Given the description of an element on the screen output the (x, y) to click on. 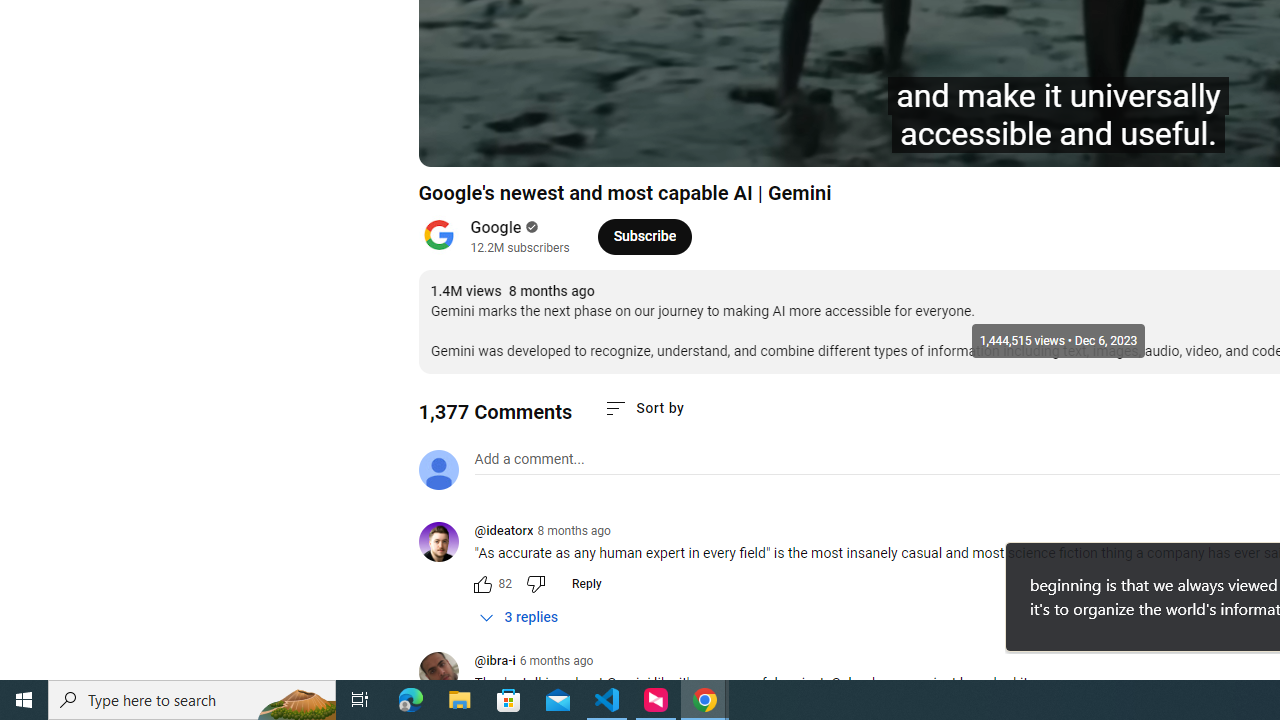
Mute (m) (594, 142)
Previous (SHIFT+p) (456, 142)
3 replies (518, 617)
@ideatorx (446, 543)
Verified (530, 227)
Next (SHIFT+n) (546, 142)
@ibra-i (494, 661)
